Given the description of an element on the screen output the (x, y) to click on. 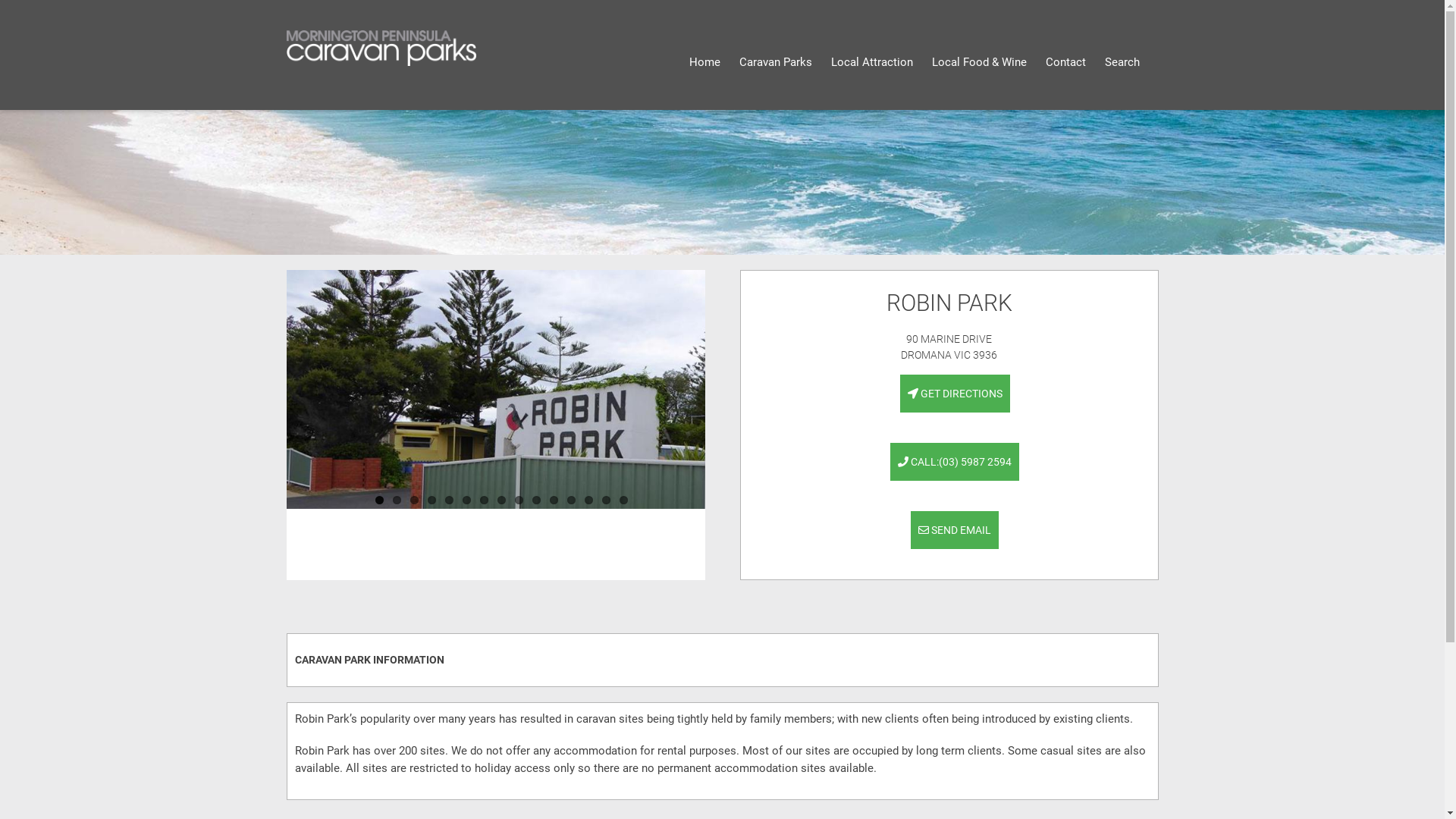
CALL:(03) 5987 2594 Element type: text (954, 461)
1 Element type: text (378, 499)
3 Element type: text (413, 499)
12 Element type: text (571, 499)
4 Element type: text (431, 499)
8 Element type: text (501, 499)
10 Element type: text (536, 499)
13 Element type: text (587, 499)
5 Element type: text (448, 499)
Local Attraction Element type: text (872, 62)
1-sm Element type: hover (722, 181)
9 Element type: text (518, 499)
Search Element type: hover (1121, 62)
15 Element type: text (622, 499)
GET DIRECTIONS Element type: text (954, 393)
7 Element type: text (483, 499)
Contact Element type: text (1064, 62)
2 Element type: text (396, 499)
SEND EMAIL Element type: text (954, 530)
6 Element type: text (466, 499)
11 Element type: text (553, 499)
14 Element type: text (606, 499)
Caravan Parks Element type: text (774, 62)
Home Element type: text (703, 62)
Local Food & Wine Element type: text (978, 62)
